Given the description of an element on the screen output the (x, y) to click on. 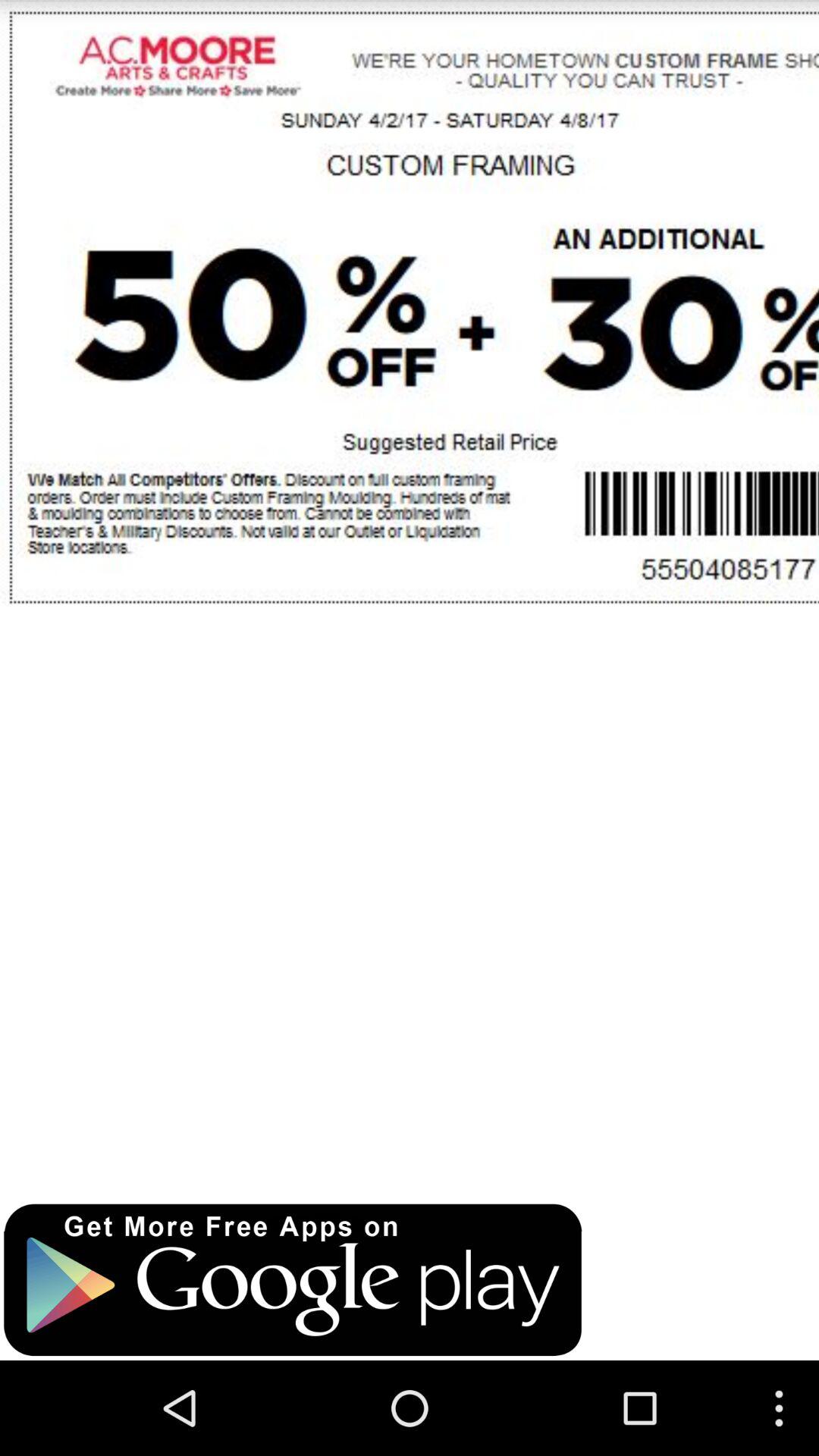
app download (292, 1280)
